Given the description of an element on the screen output the (x, y) to click on. 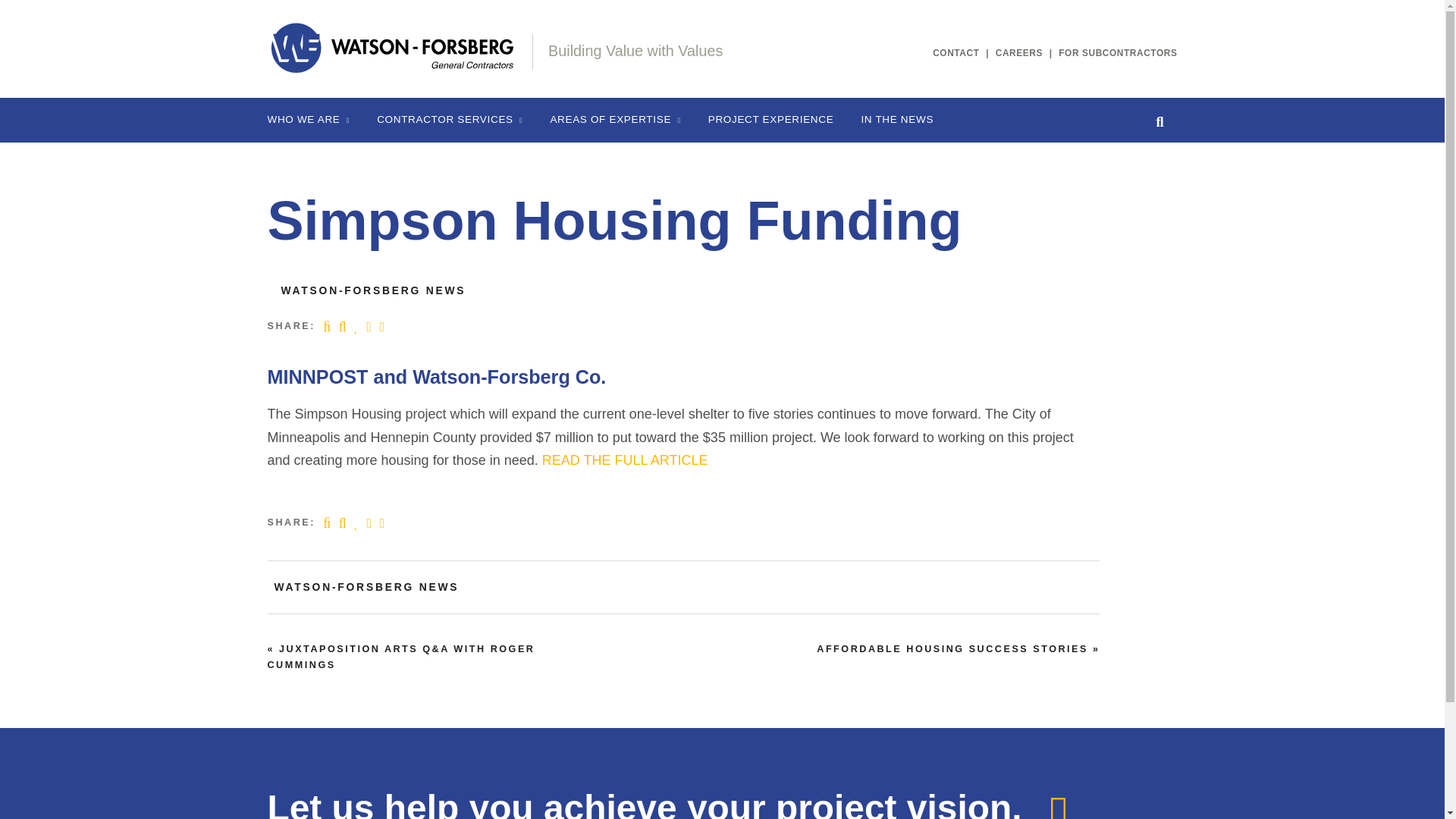
PROJECT EXPERIENCE (770, 119)
CONTACT (955, 52)
AREAS OF EXPERTISE (614, 119)
WHO WE ARE (307, 119)
READ THE FULL ARTICLE (624, 459)
CAREERS (1018, 52)
CONTRACTOR SERVICES (448, 119)
IN THE NEWS (897, 119)
WATSON-FORSBERG NEWS (373, 290)
FOR SUBCONTRACTORS (1117, 52)
